Given the description of an element on the screen output the (x, y) to click on. 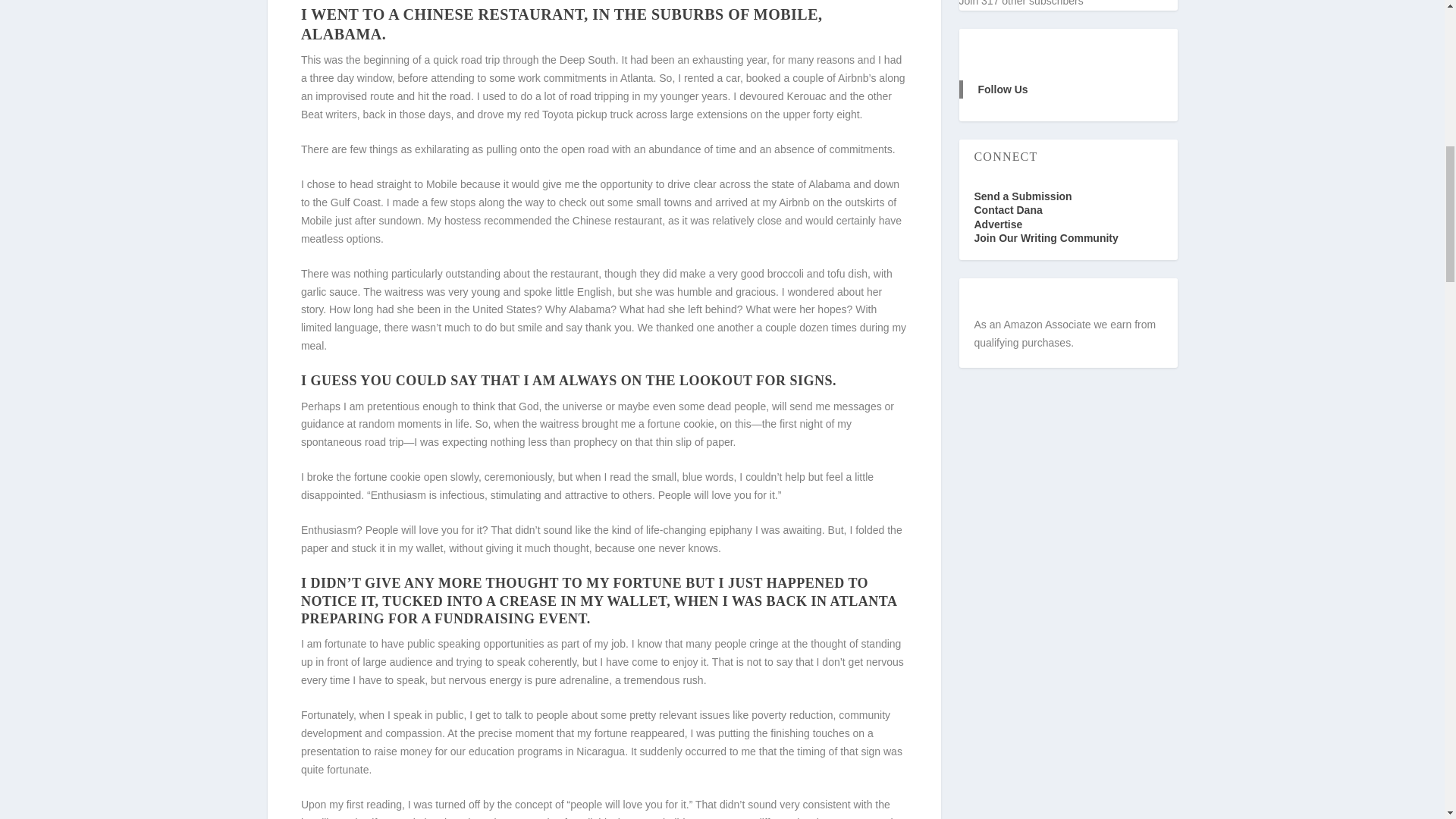
road tripping (599, 96)
